Given the description of an element on the screen output the (x, y) to click on. 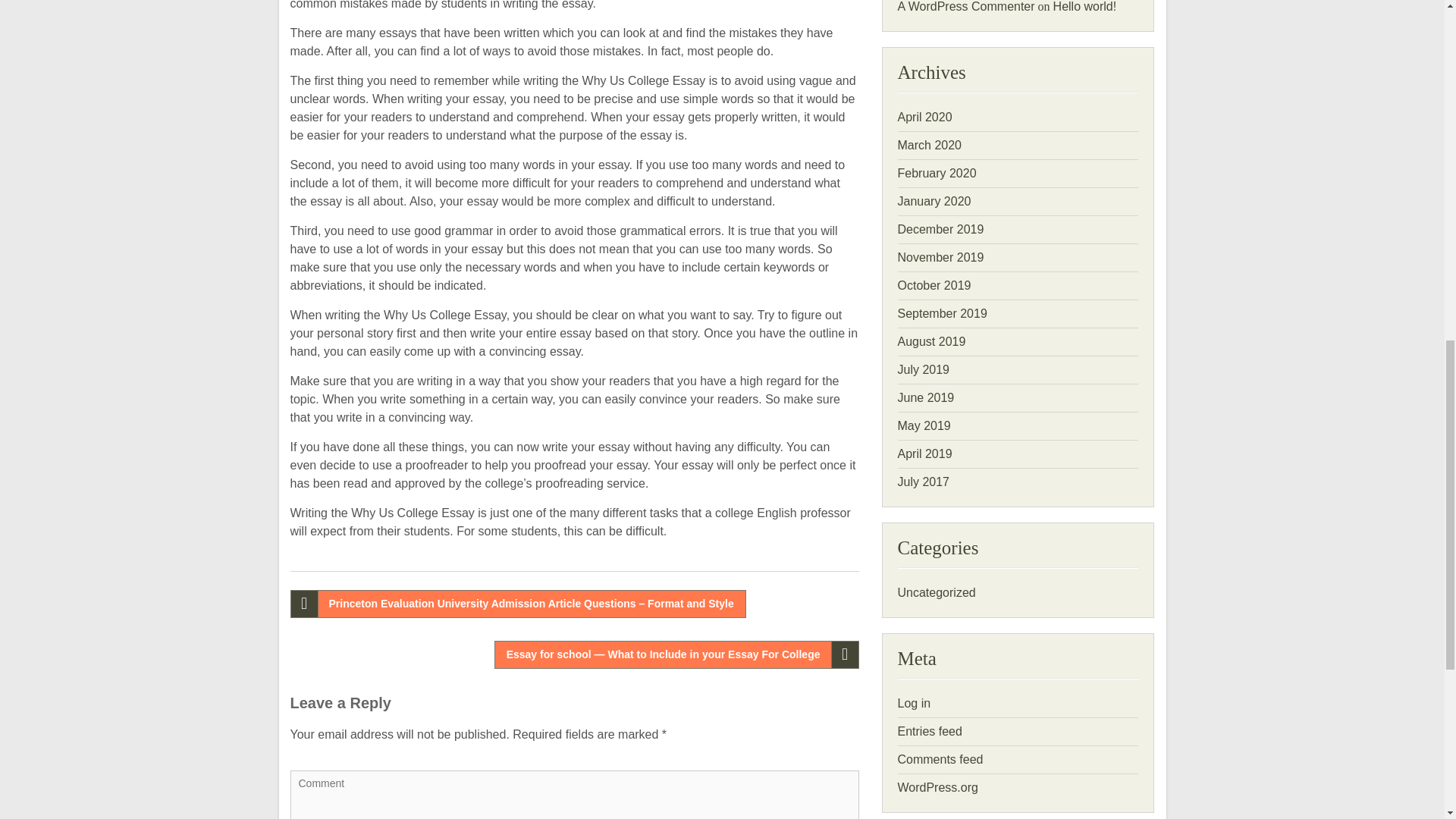
May 2019 (924, 425)
Hello world! (1084, 6)
September 2019 (942, 313)
January 2020 (934, 201)
October 2019 (934, 285)
Comments feed (941, 758)
June 2019 (926, 397)
December 2019 (941, 228)
Log in (914, 703)
April 2020 (925, 116)
July 2019 (924, 369)
February 2020 (937, 173)
Uncategorized (936, 592)
April 2019 (925, 453)
November 2019 (941, 256)
